Given the description of an element on the screen output the (x, y) to click on. 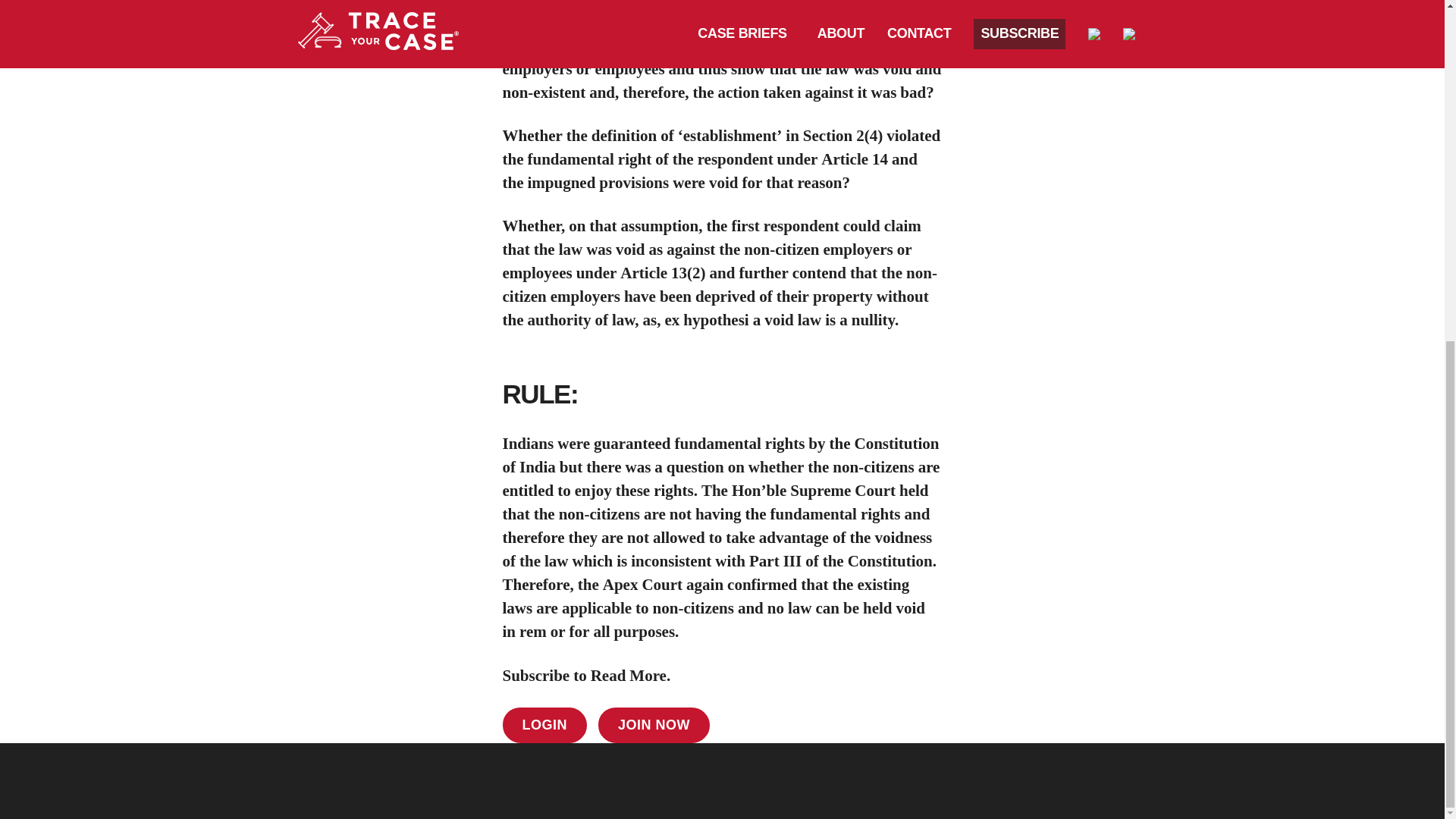
LOGIN (544, 724)
JOIN NOW (654, 724)
